Given the description of an element on the screen output the (x, y) to click on. 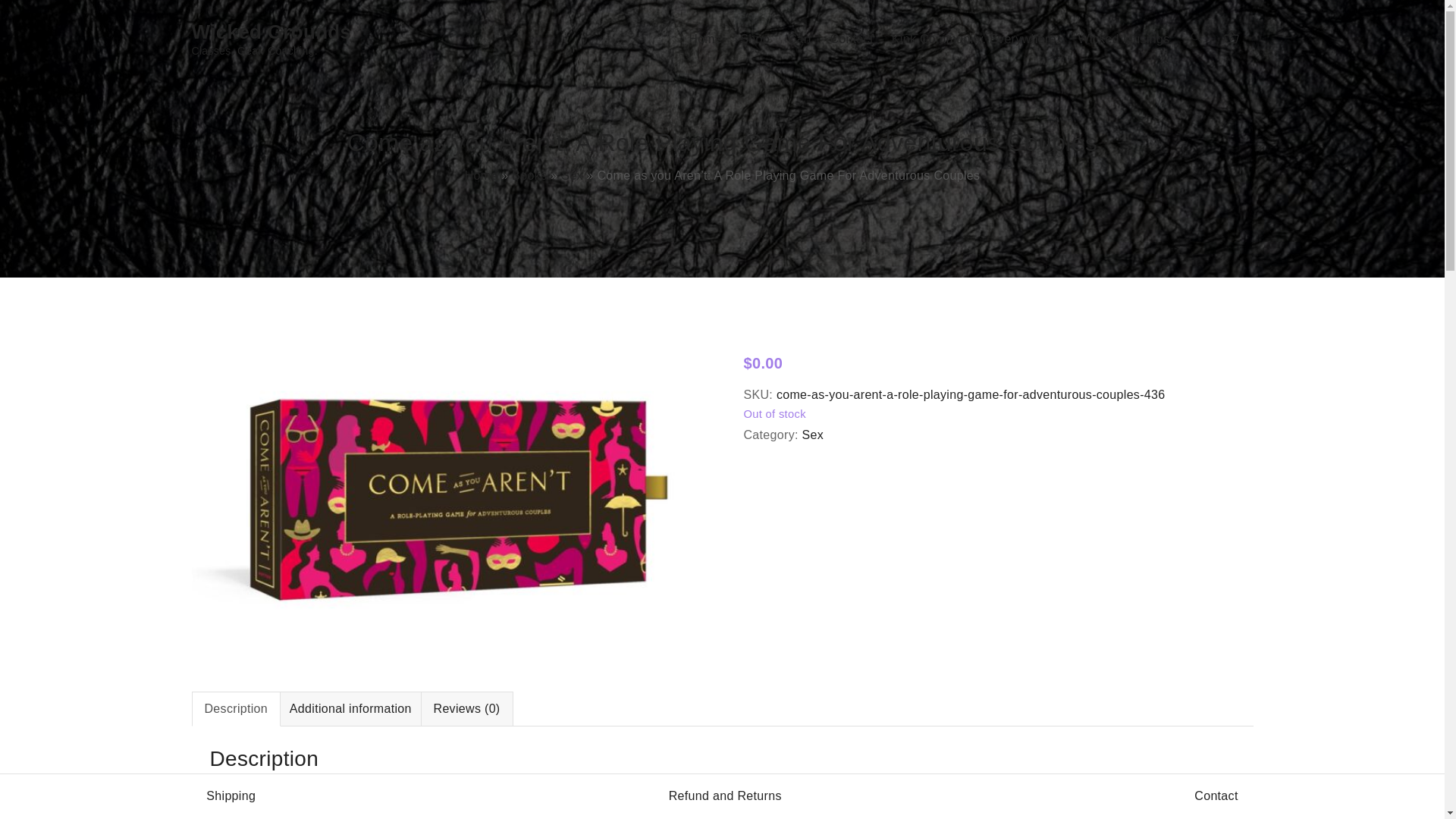
Home (705, 39)
Cart (799, 39)
Shop (754, 39)
Home (480, 174)
Contact (850, 39)
Wicked Musings (1124, 39)
Sex (813, 434)
Description (236, 708)
Sex (571, 174)
Kink Community. Everywhere. (975, 39)
